Given the description of an element on the screen output the (x, y) to click on. 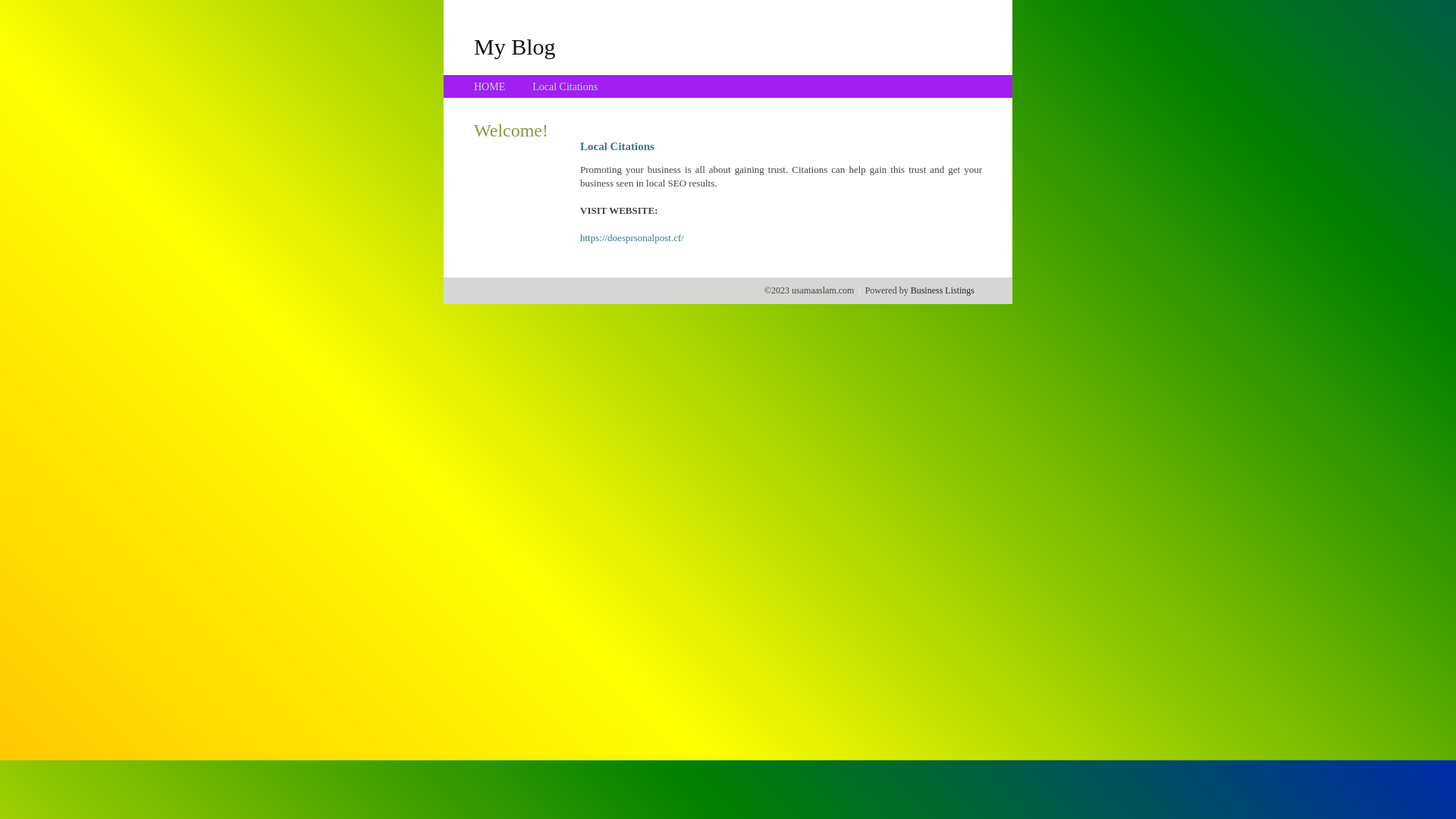
https://doesprsonalpost.cf/ Element type: text (632, 237)
Local Citations Element type: text (564, 86)
Business Listings Element type: text (942, 290)
HOME Element type: text (489, 86)
My Blog Element type: text (514, 46)
